Given the description of an element on the screen output the (x, y) to click on. 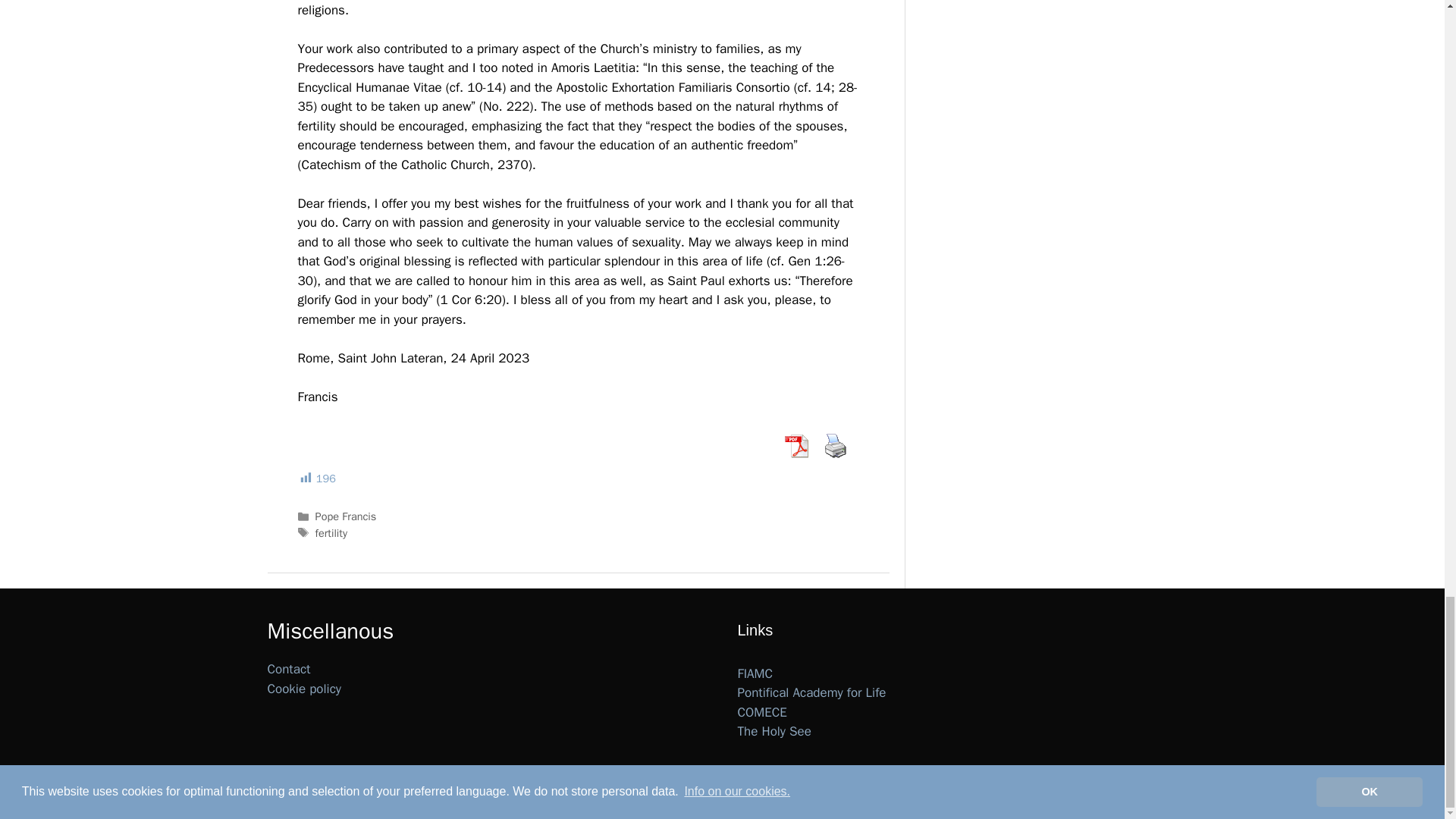
Pope Francis (346, 516)
Print Content (834, 445)
fertility (331, 532)
View PDF (794, 445)
